Given the description of an element on the screen output the (x, y) to click on. 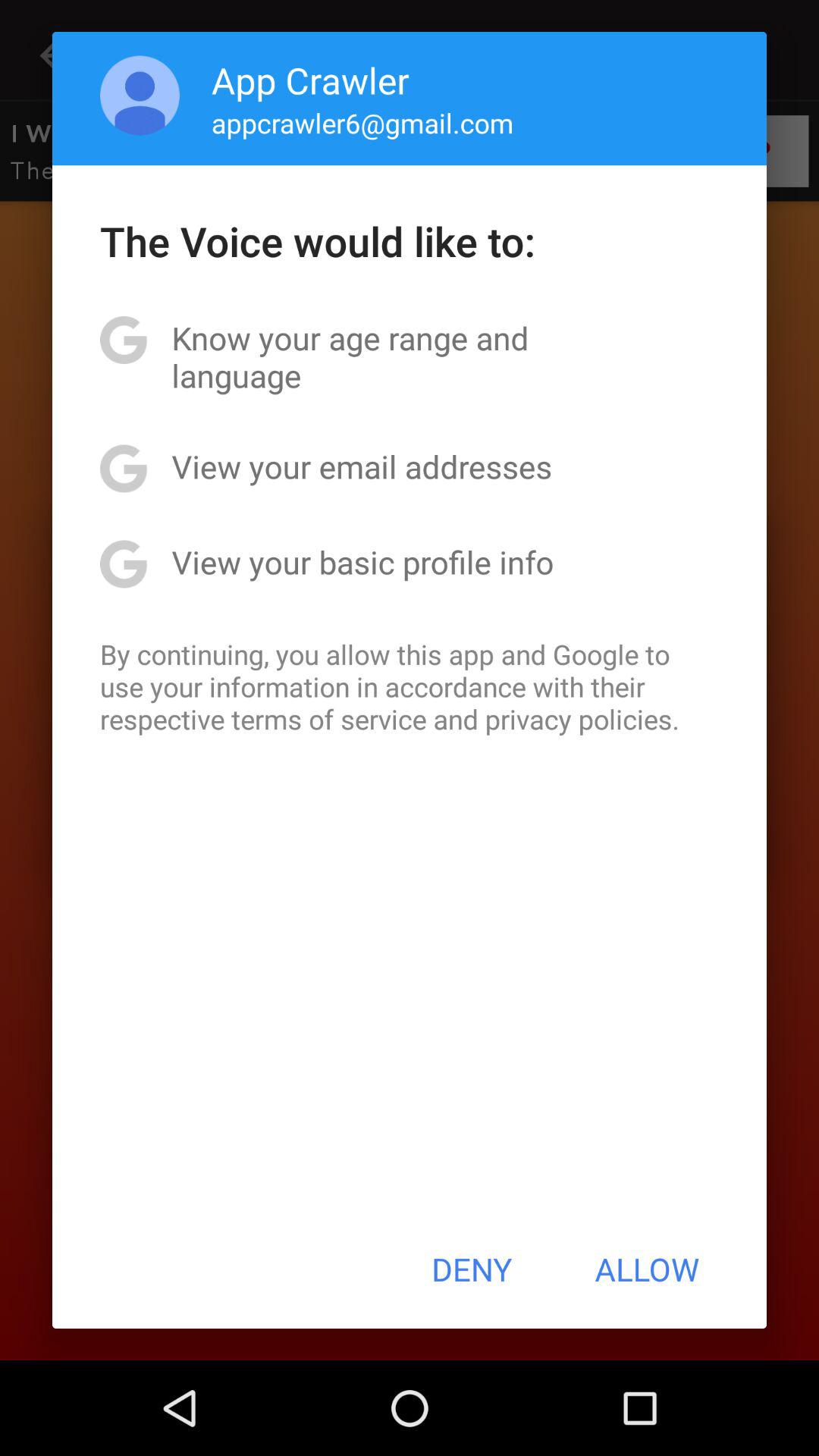
click the know your age app (409, 356)
